Given the description of an element on the screen output the (x, y) to click on. 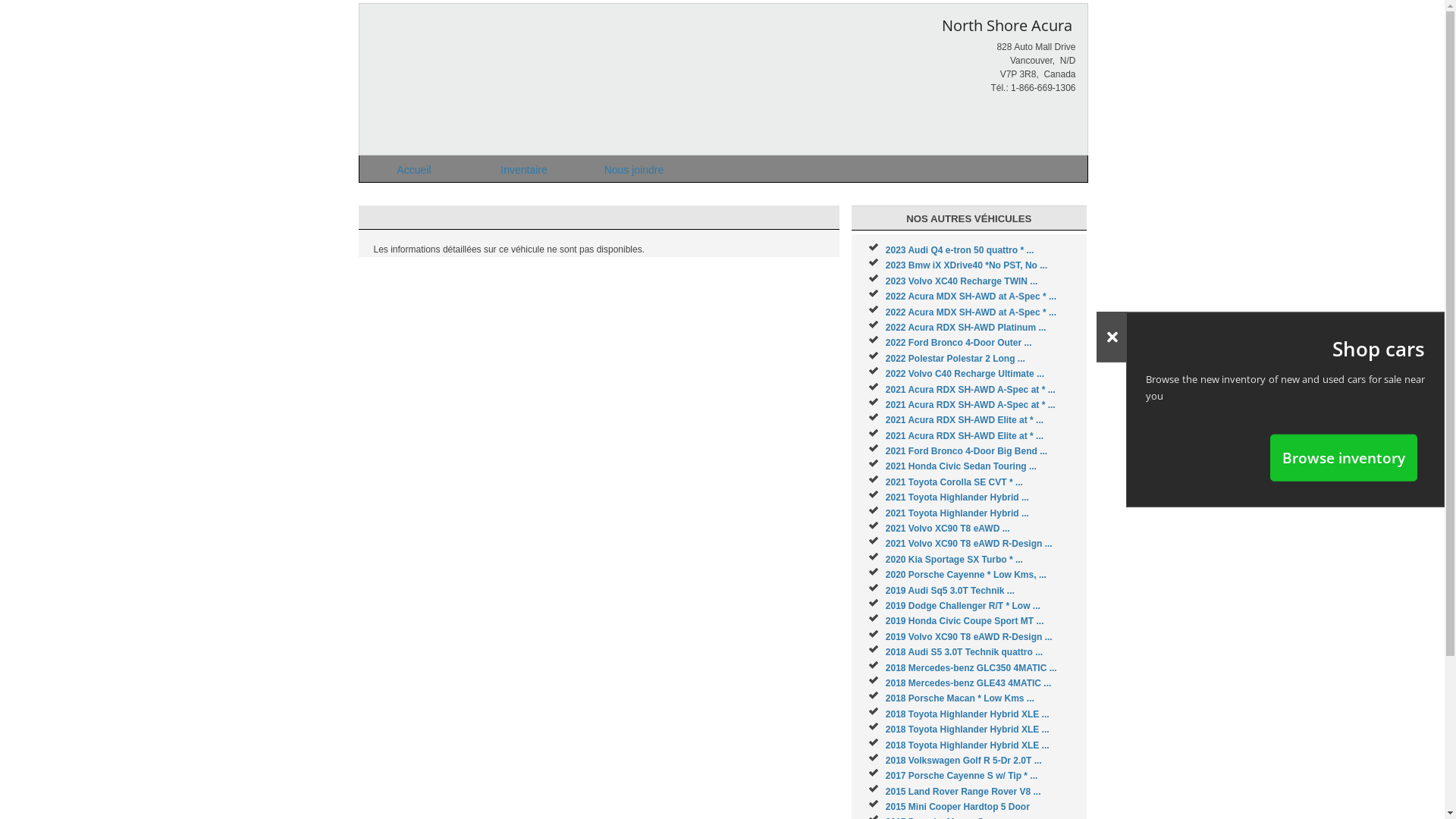
2021 Toyota Highlander Hybrid ... Element type: text (957, 497)
2015 Mini Cooper Hardtop 5 Door Element type: text (957, 806)
2019 Audi Sq5 3.0T Technik ... Element type: text (949, 590)
Browse inventory Element type: text (1343, 457)
2017 Porsche Cayenne S w/ Tip * ... Element type: text (961, 775)
2019 Dodge Challenger R/T * Low ... Element type: text (962, 605)
2018 Toyota Highlander Hybrid XLE ... Element type: text (967, 729)
2022 Polestar Polestar 2 Long ... Element type: text (955, 358)
2021 Acura RDX SH-AWD Elite at * ... Element type: text (964, 435)
2023 Bmw iX XDrive40 *No PST, No ... Element type: text (966, 265)
2021 Acura RDX SH-AWD A-Spec at * ... Element type: text (970, 404)
2022 Volvo C40 Recharge Ultimate ... Element type: text (964, 373)
2018 Audi S5 3.0T Technik quattro ... Element type: text (963, 651)
2021 Acura RDX SH-AWD Elite at * ... Element type: text (964, 419)
2022 Acura RDX SH-AWD Platinum ... Element type: text (965, 327)
2018 Toyota Highlander Hybrid XLE ... Element type: text (967, 745)
2019 Volvo XC90 T8 eAWD R-Design ... Element type: text (968, 636)
2018 Volkswagen Golf R 5-Dr 2.0T ... Element type: text (963, 760)
2020 Kia Sportage SX Turbo * ... Element type: text (953, 559)
2022 Acura MDX SH-AWD at A-Spec * ... Element type: text (970, 296)
2021 Volvo XC90 T8 eAWD R-Design ... Element type: text (968, 543)
2022 Ford Bronco 4-Door Outer ... Element type: text (958, 342)
2023 Volvo XC40 Recharge TWIN ... Element type: text (961, 281)
2021 Acura RDX SH-AWD A-Spec at * ... Element type: text (970, 389)
2015 Land Rover Range Rover V8 ... Element type: text (963, 791)
2018 Toyota Highlander Hybrid XLE ... Element type: text (967, 714)
2021 Volvo XC90 T8 eAWD ... Element type: text (947, 528)
Nous joindre Element type: text (634, 168)
2021 Toyota Corolla SE CVT * ... Element type: text (953, 481)
2018 Mercedes-benz GLC350 4MATIC ... Element type: text (971, 667)
2018 Mercedes-benz GLE43 4MATIC ... Element type: text (968, 682)
2020 Porsche Cayenne * Low Kms, ... Element type: text (965, 574)
2022 Acura MDX SH-AWD at A-Spec * ... Element type: text (970, 312)
2021 Ford Bronco 4-Door Big Bend ... Element type: text (966, 450)
Inventaire Element type: text (523, 168)
2023 Audi Q4 e-tron 50 quattro * ... Element type: text (959, 249)
2021 Honda Civic Sedan Touring ... Element type: text (960, 466)
Accueil Element type: text (414, 168)
2021 Toyota Highlander Hybrid ... Element type: text (957, 513)
2018 Porsche Macan * Low Kms ... Element type: text (959, 698)
2019 Honda Civic Coupe Sport MT ... Element type: text (964, 620)
